Given the description of an element on the screen output the (x, y) to click on. 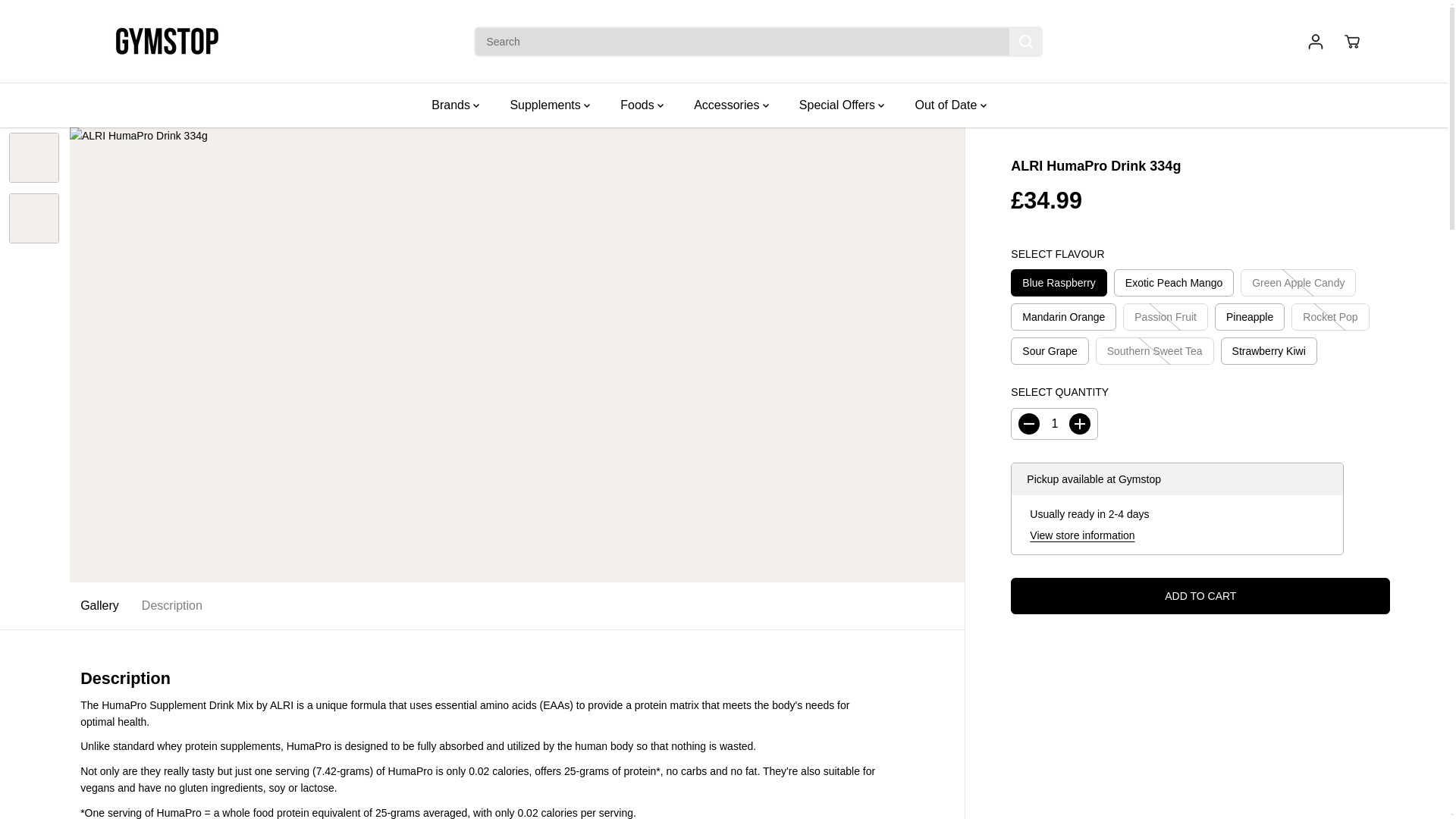
Strawberry Kiwi (1269, 350)
Rocket Pop (1329, 316)
Southern Sweet Tea (1155, 350)
Green Apple Candy (1297, 282)
Log in (1315, 41)
Mandarin Orange (1063, 316)
Passion Fruit (1165, 316)
Blue Raspberry (1058, 282)
Cart (1351, 41)
Mandarin Orange (1063, 316)
